Given the description of an element on the screen output the (x, y) to click on. 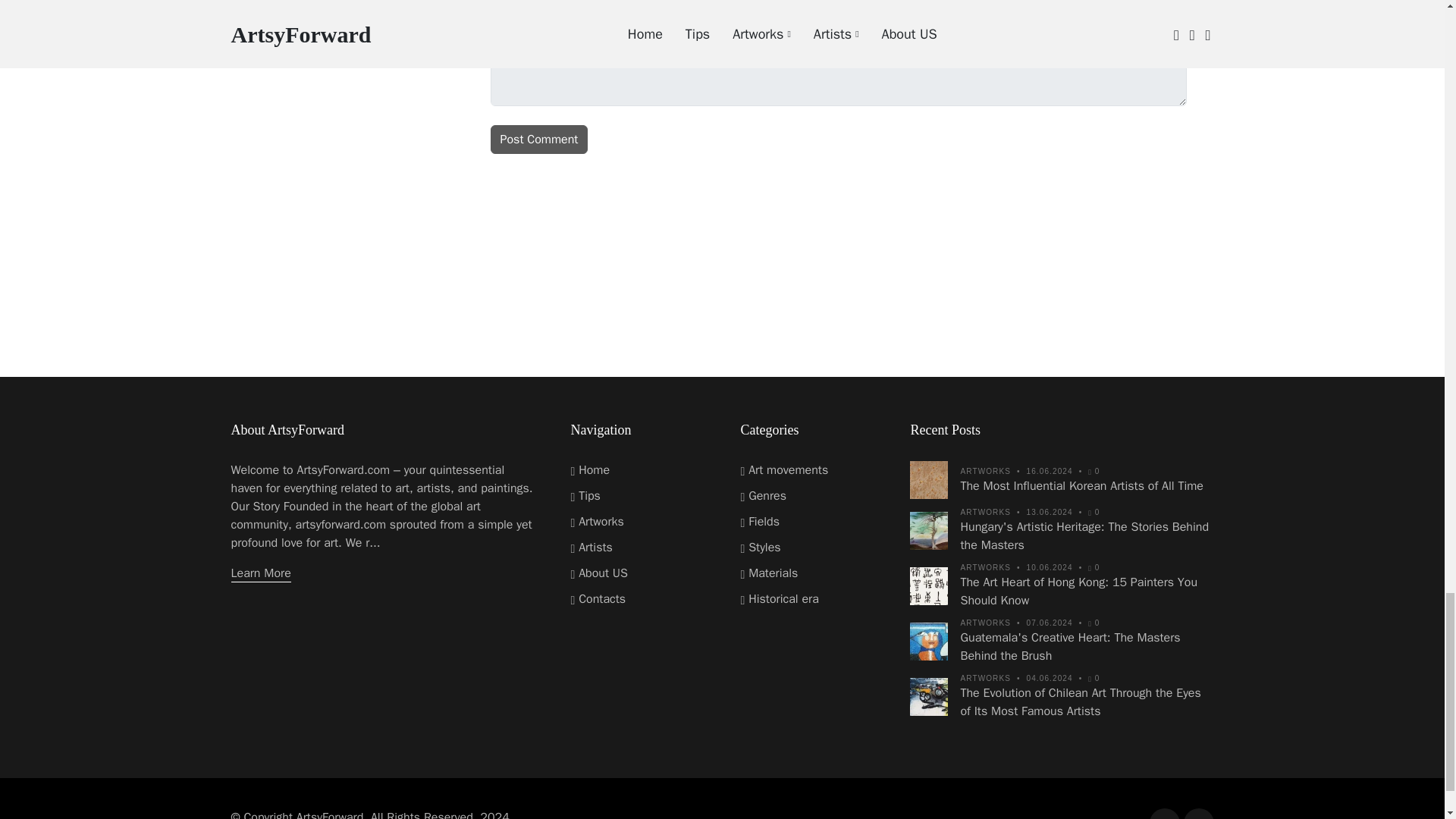
Post Comment (538, 139)
